Given the description of an element on the screen output the (x, y) to click on. 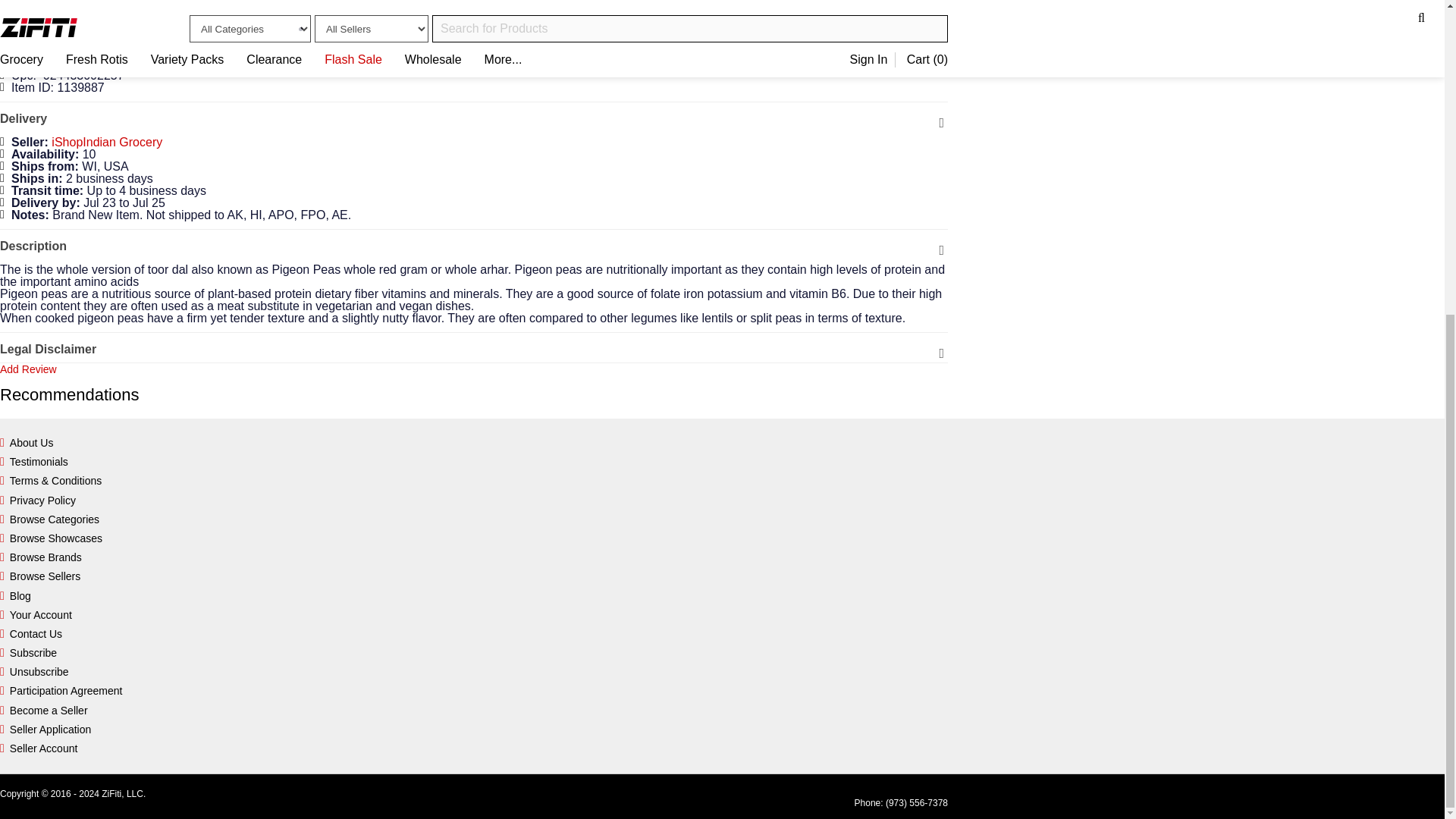
Recommendations (473, 394)
